Given the description of an element on the screen output the (x, y) to click on. 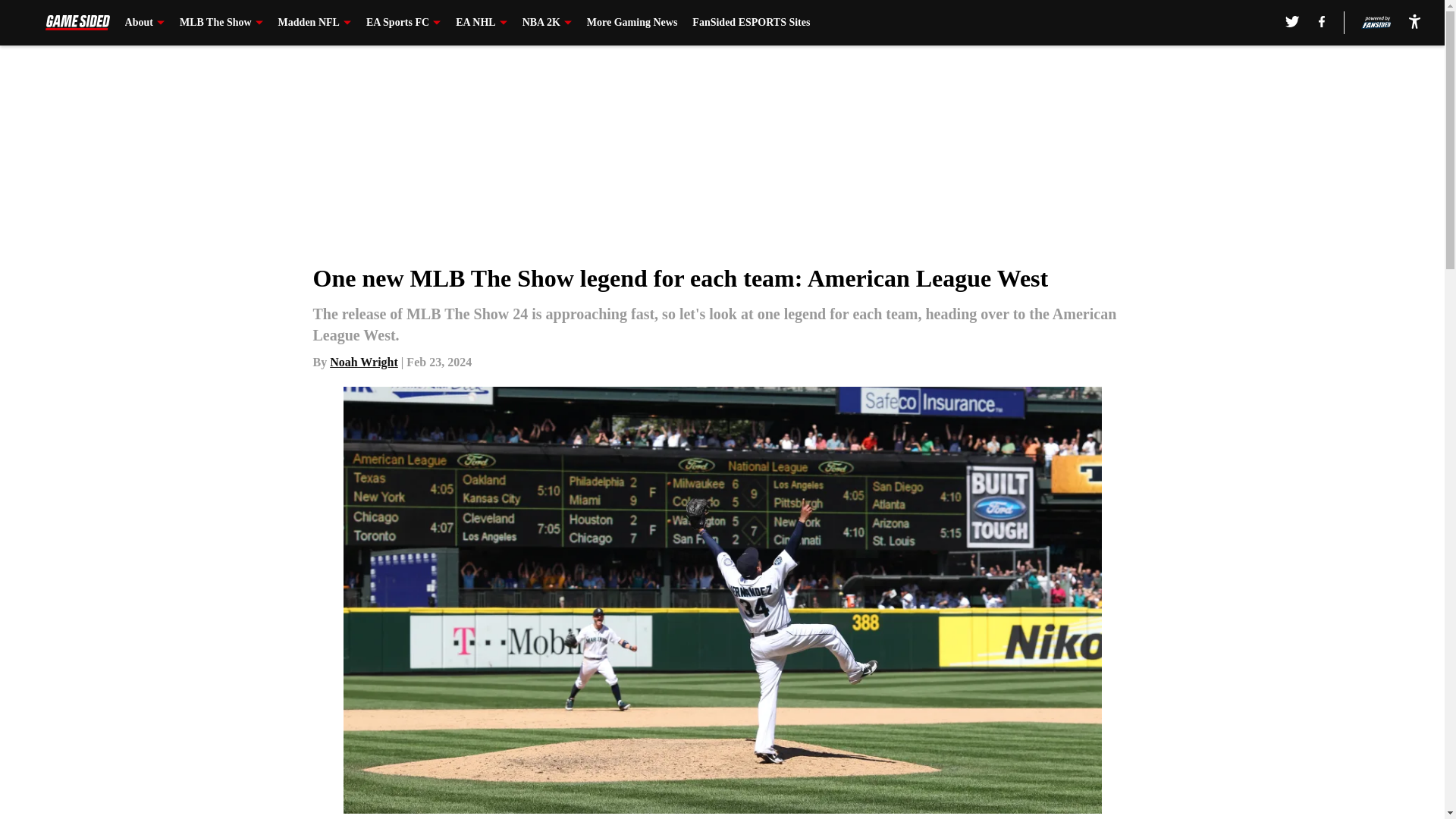
FanSided ESPORTS Sites (751, 22)
More Gaming News (632, 22)
Noah Wright (363, 361)
